Given the description of an element on the screen output the (x, y) to click on. 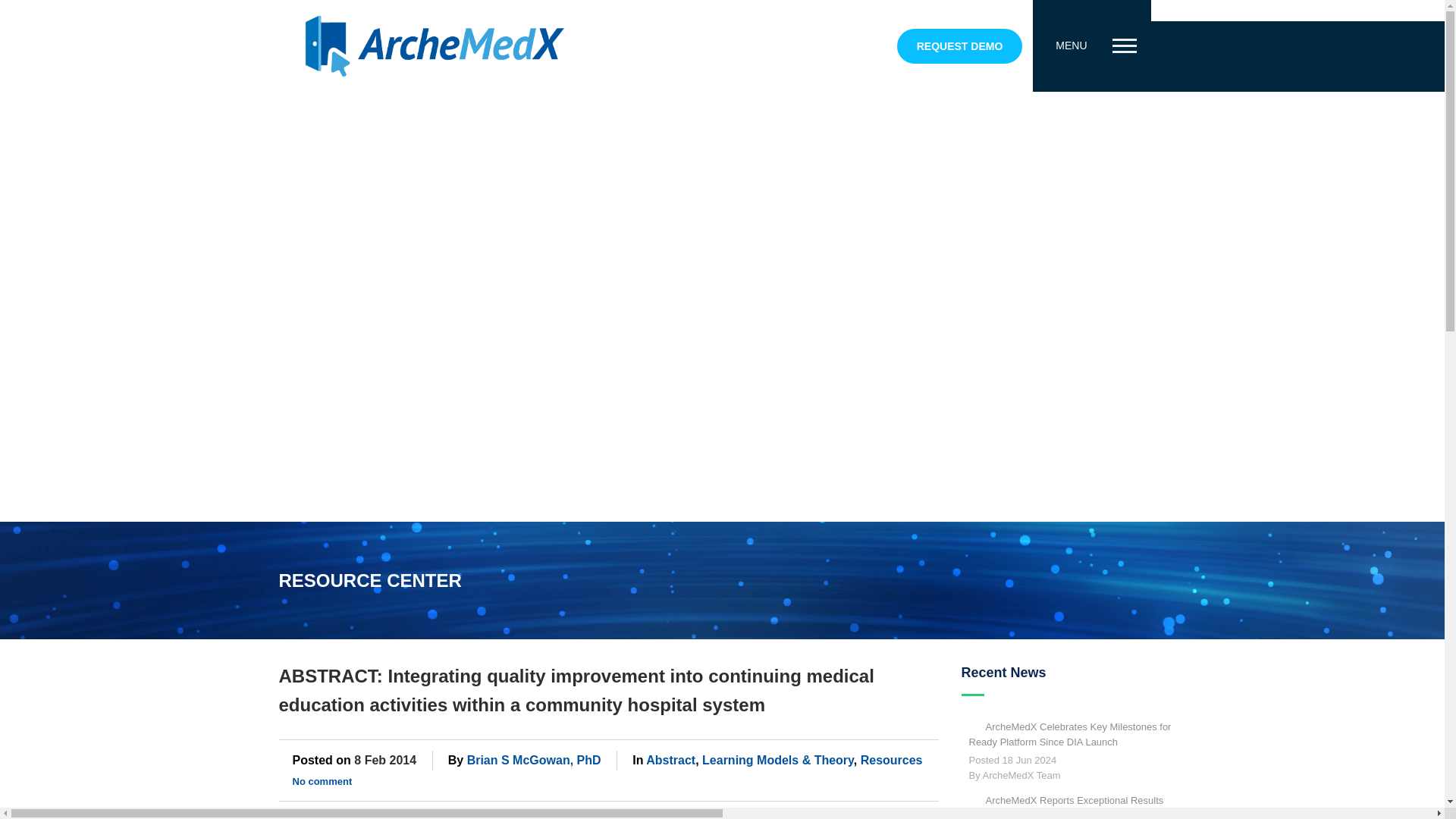
Resources (891, 759)
Posts by Brian S McGowan, PhD (534, 759)
No comment (322, 781)
No comment (322, 781)
REQUEST DEMO (959, 45)
Abstract (670, 759)
Brian S McGowan, PhD (534, 759)
